Given the description of an element on the screen output the (x, y) to click on. 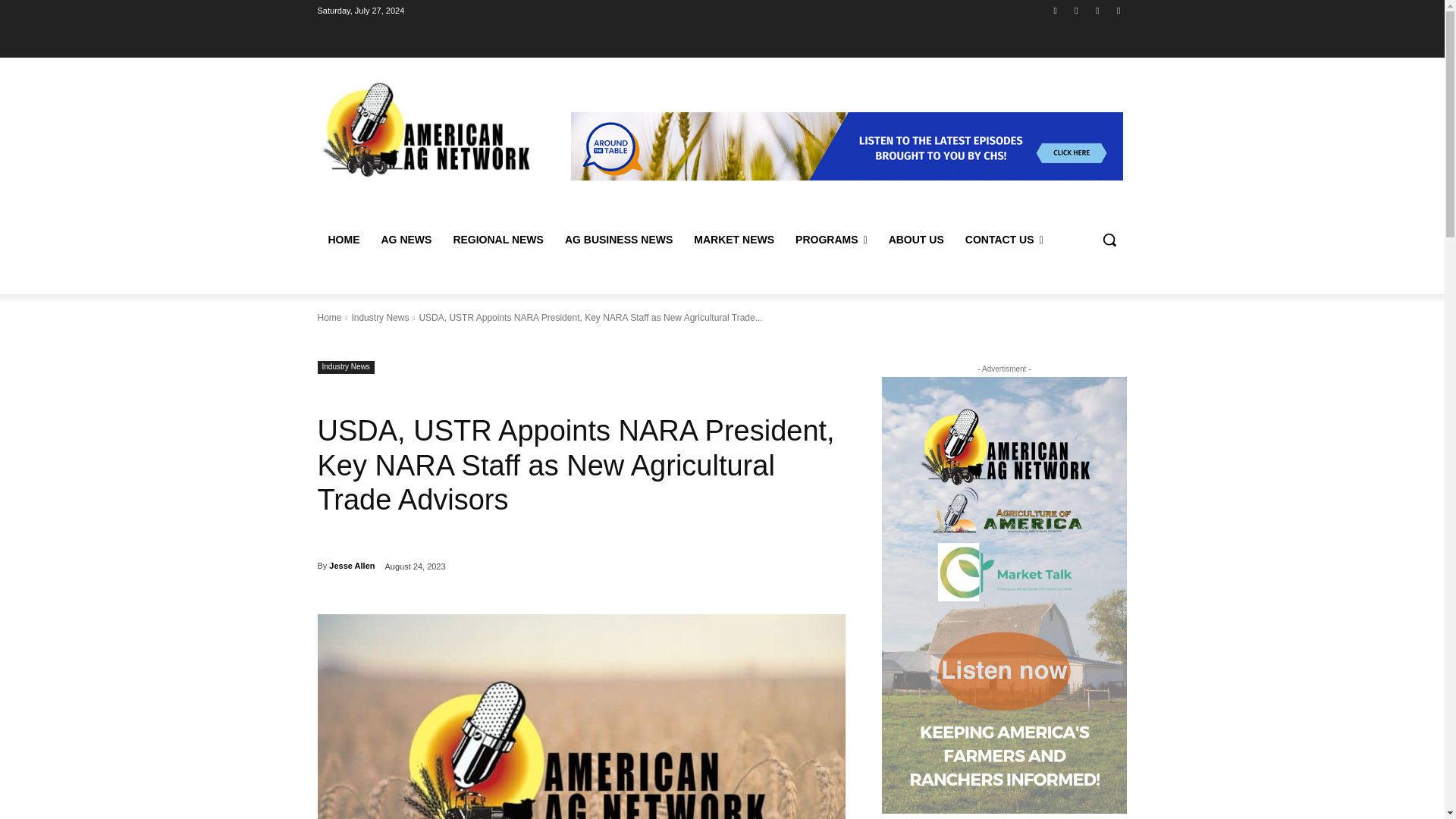
CONTACT US (1004, 239)
MARKET NEWS (733, 239)
REGIONAL NEWS (498, 239)
HOME (343, 239)
AG BUSINESS NEWS (618, 239)
AG NEWS (405, 239)
Youtube (1117, 9)
Facebook (1055, 9)
news aan logo (580, 716)
Instagram (1075, 9)
Twitter (1097, 9)
ABOUT US (916, 239)
View all posts in Industry News (379, 317)
PROGRAMS (830, 239)
